Given the description of an element on the screen output the (x, y) to click on. 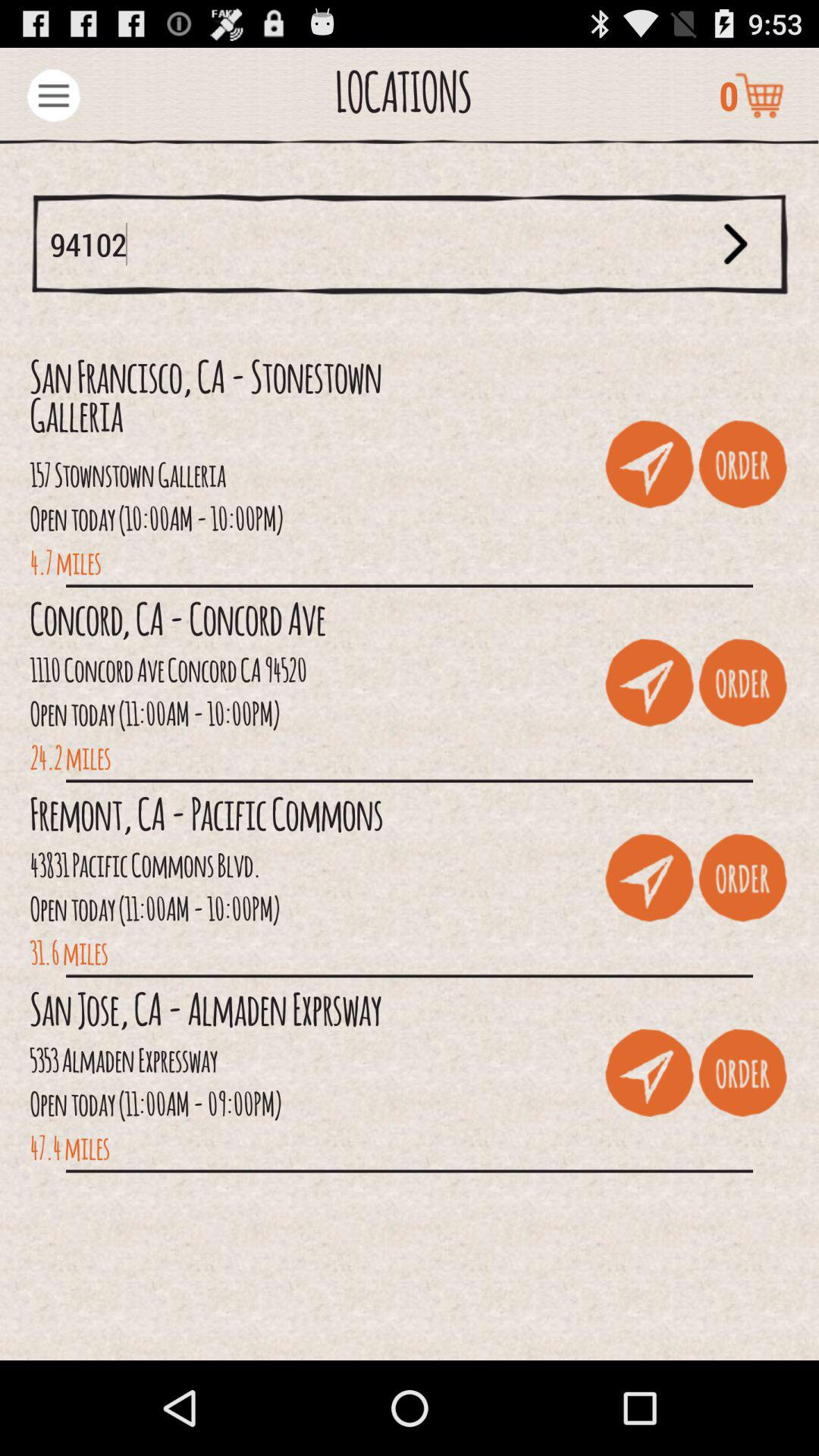
select menu (53, 95)
